Given the description of an element on the screen output the (x, y) to click on. 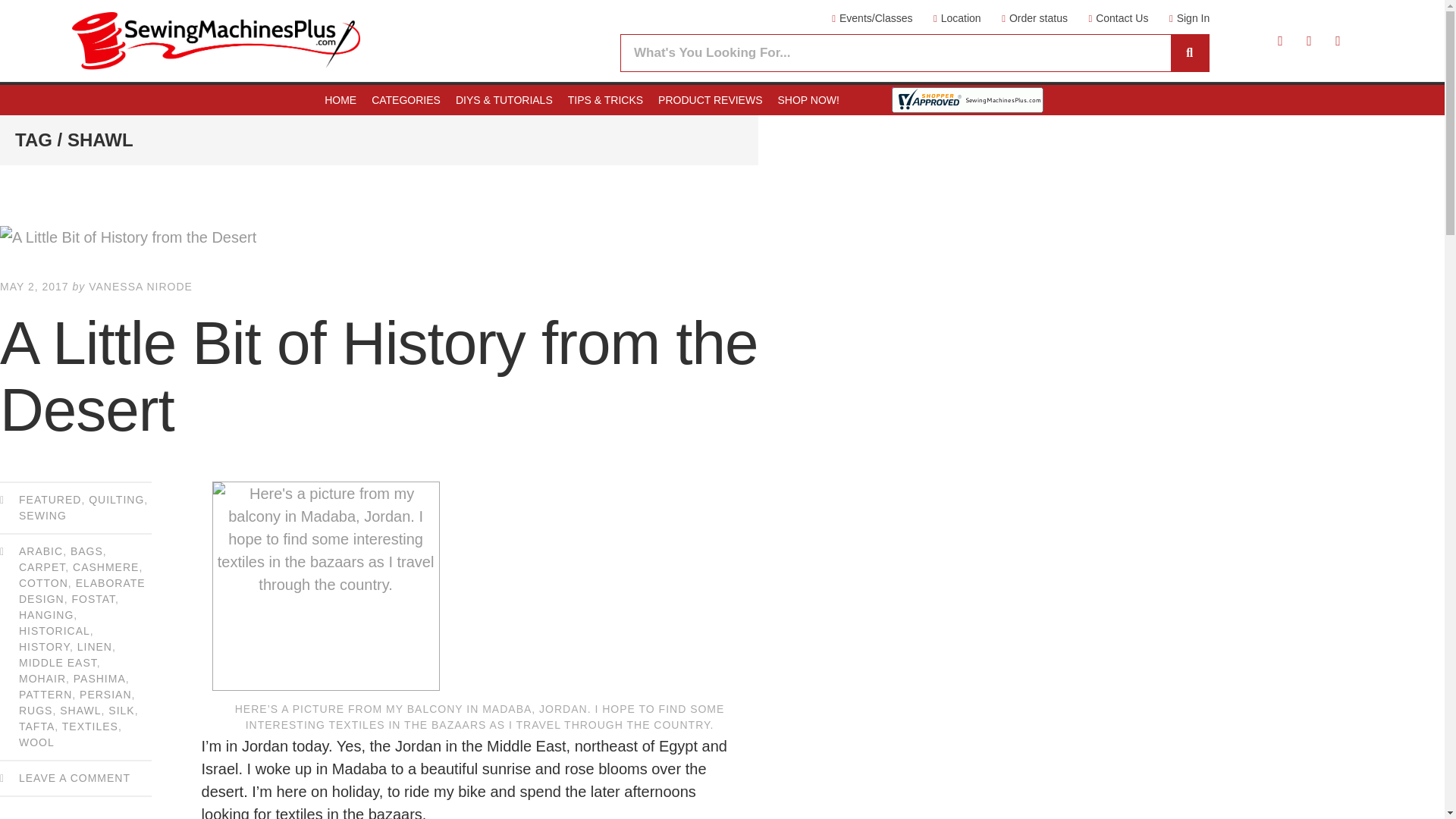
PRODUCT REVIEWS (709, 99)
Search (895, 53)
CATEGORIES (406, 99)
A Little Bit of History from the Desert (379, 237)
Search (1189, 53)
HOME (340, 99)
SHOP NOW! (808, 99)
